Given the description of an element on the screen output the (x, y) to click on. 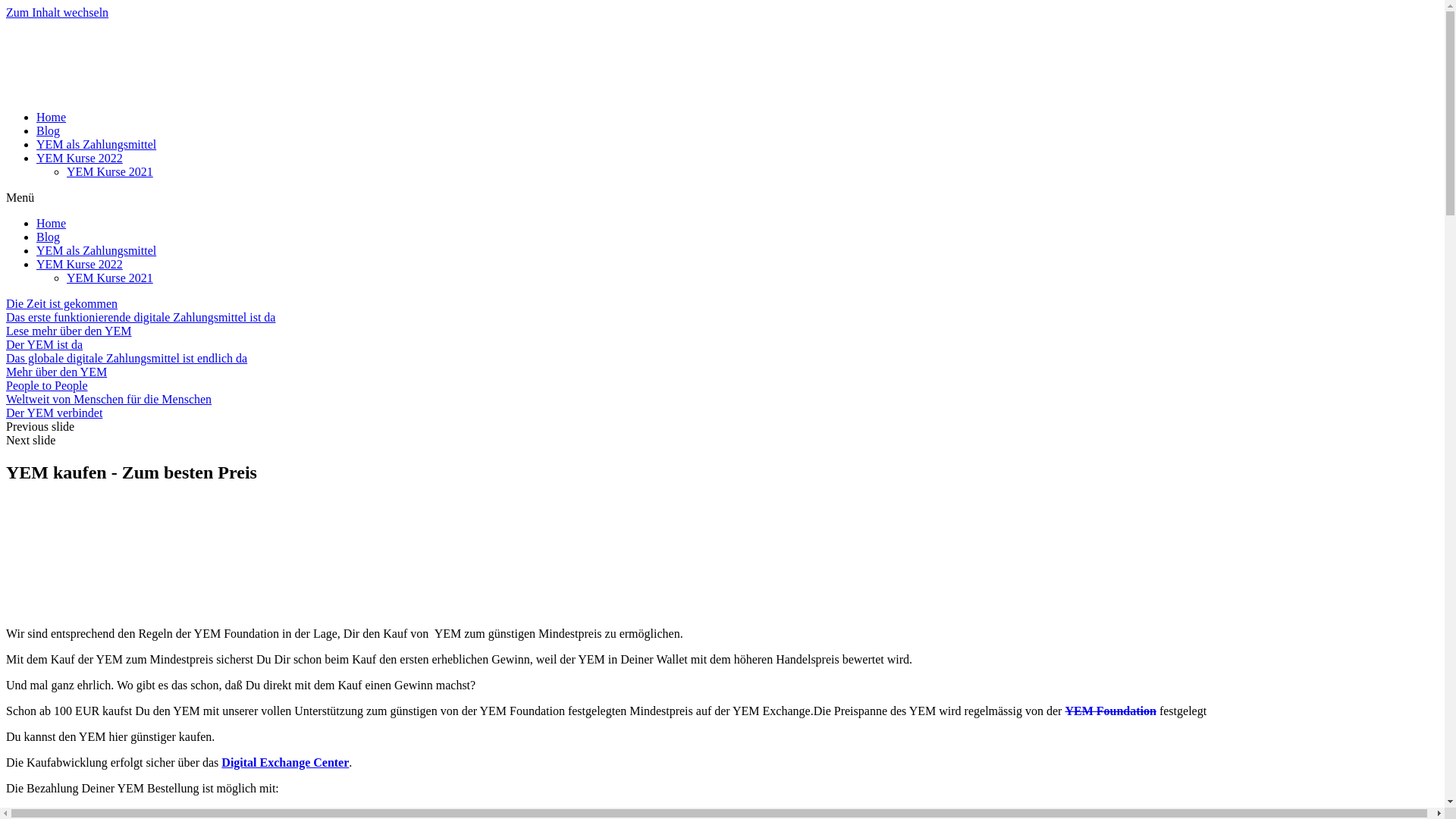
Home Element type: text (50, 222)
Blog Element type: text (47, 130)
YEM Kurse 2021 Element type: text (109, 171)
Blog Element type: text (47, 236)
YEM als Zahlungsmittel Element type: text (96, 144)
Home Element type: text (50, 116)
Digital Exchange Center Element type: text (284, 762)
YEM Foundation Element type: text (1109, 710)
YEM Kurse 2022 Element type: text (79, 263)
Zum Inhalt wechseln Element type: text (57, 12)
YEM Kurse 2021 Element type: text (109, 277)
YEM Kurse 2022 Element type: text (79, 157)
YEM als Zahlungsmittel Element type: text (96, 250)
